Given the description of an element on the screen output the (x, y) to click on. 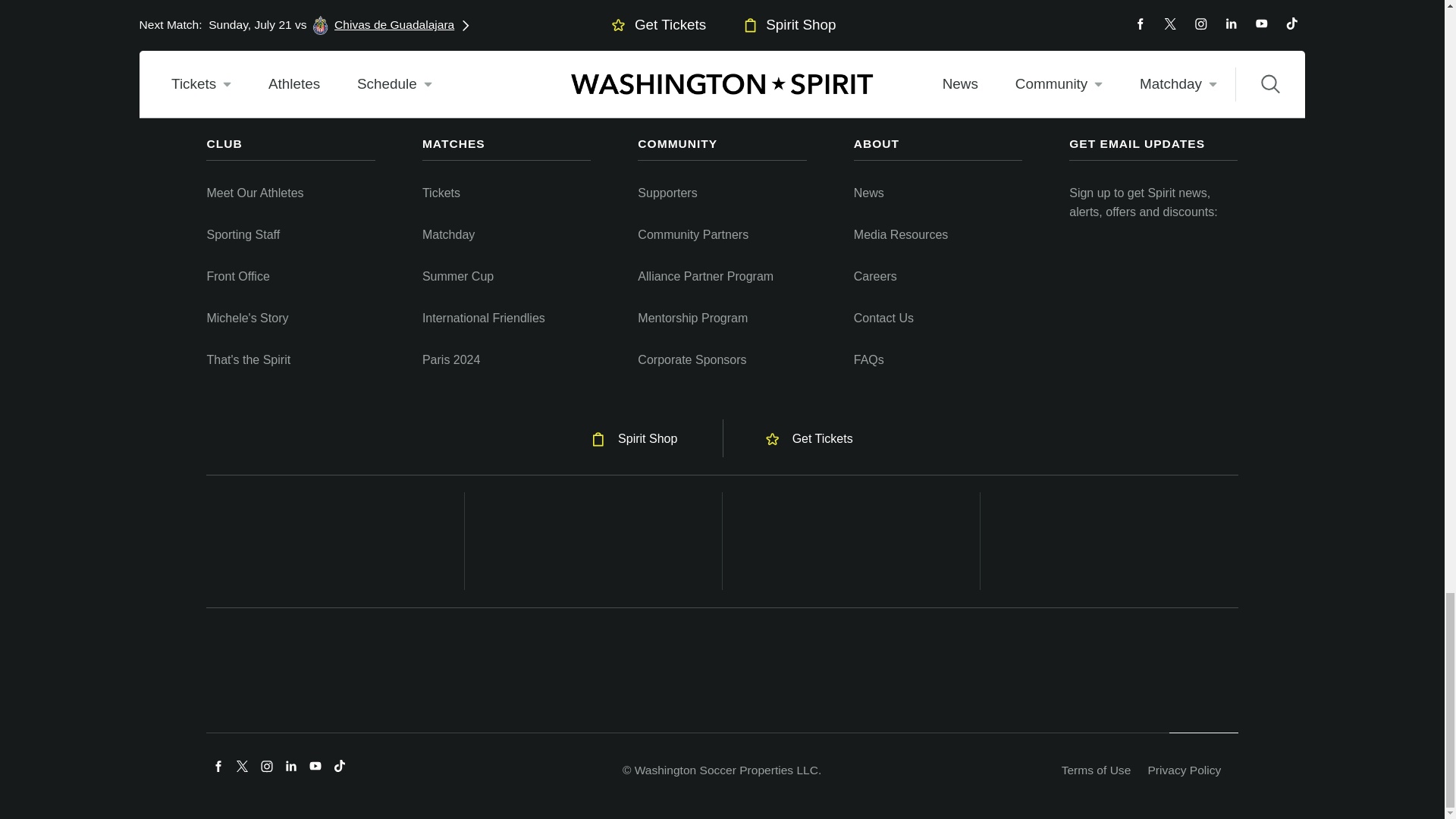
Opens a new window to clubs sponsors (593, 540)
Opens a new window to clubs sponsors (850, 540)
Opens a new window to clubs sponsors (1108, 540)
Opens a new window to clubs sponsors (335, 540)
